Given the description of an element on the screen output the (x, y) to click on. 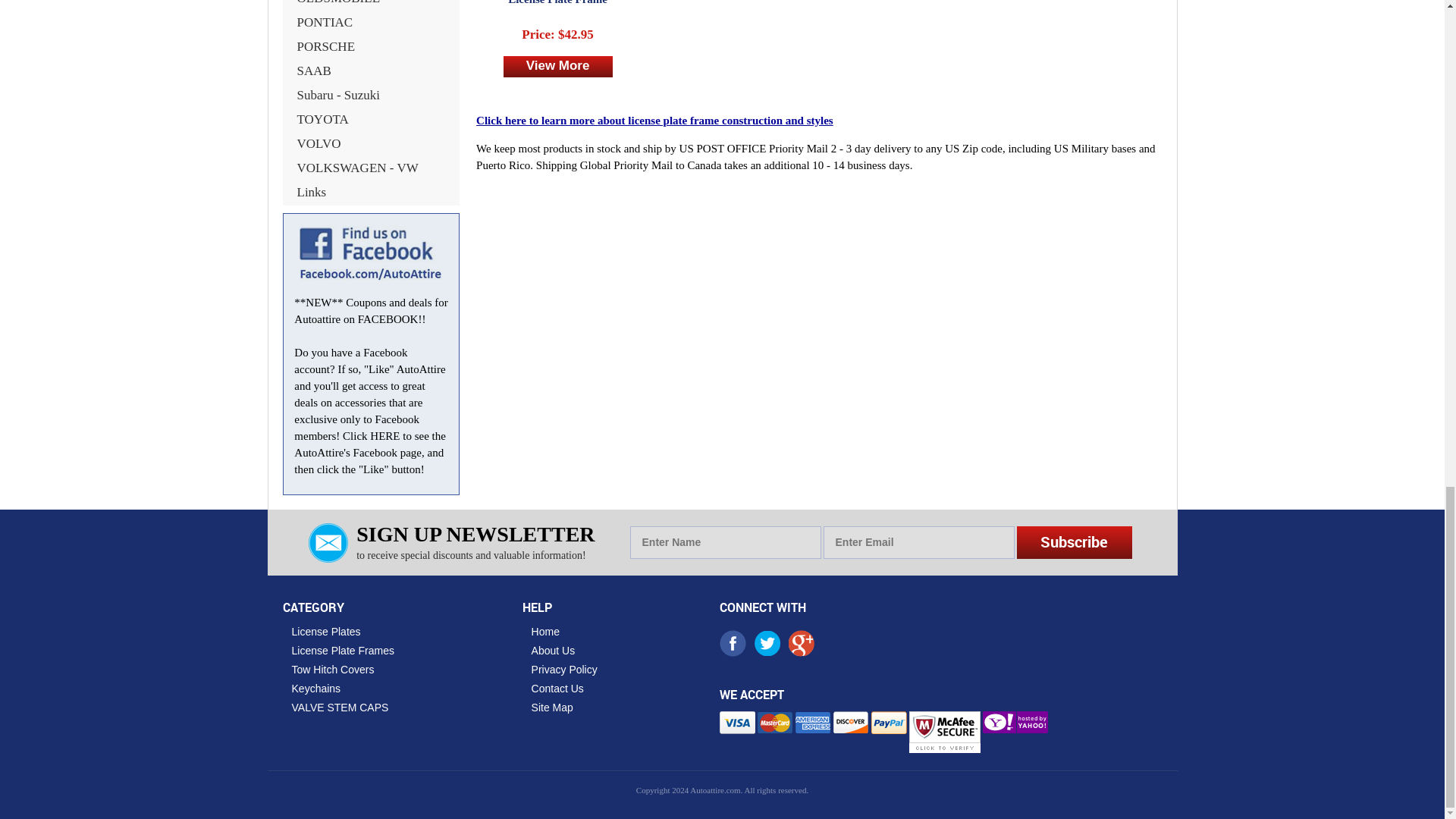
Subscribe (1074, 542)
